Given the description of an element on the screen output the (x, y) to click on. 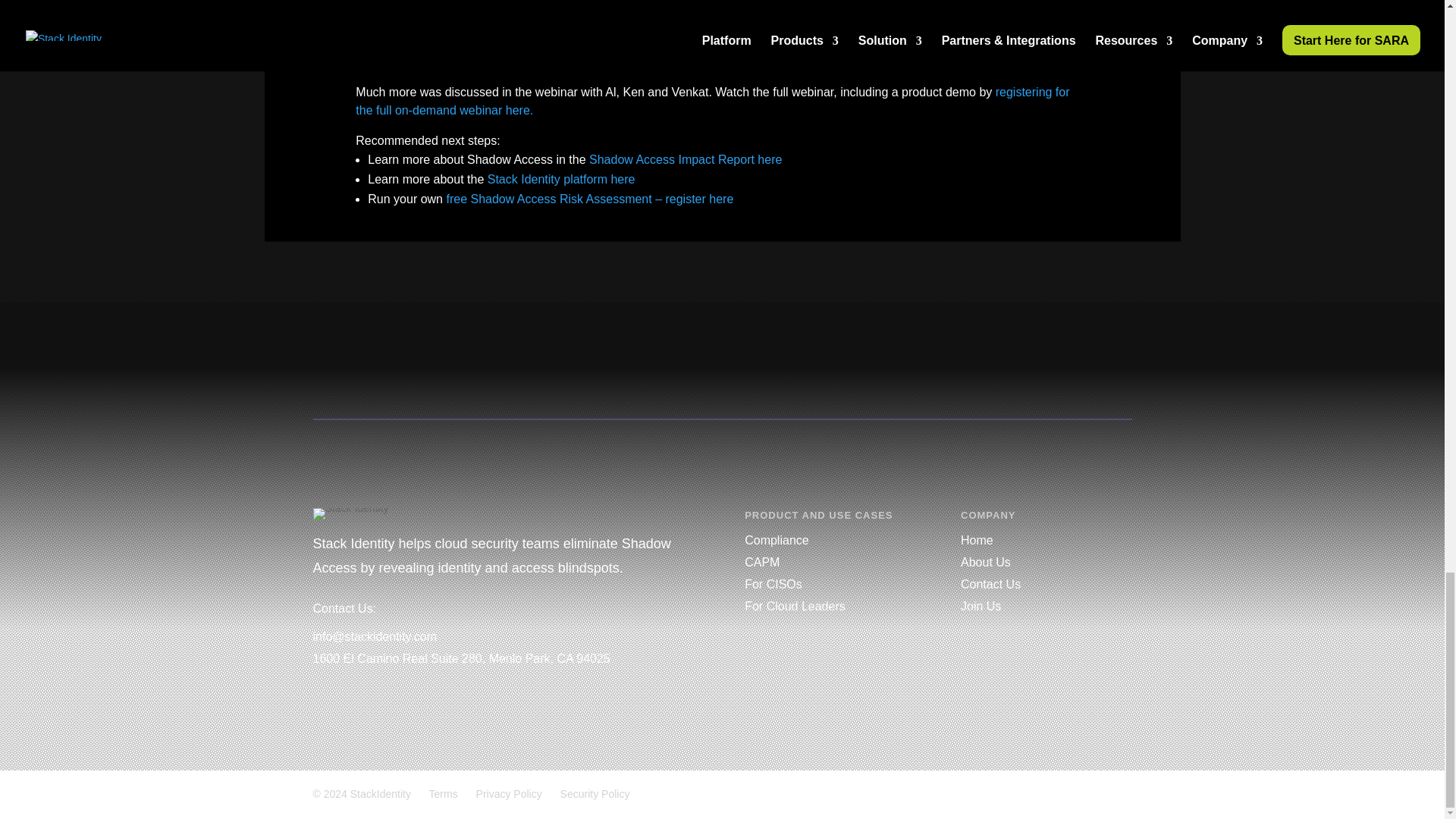
Shadow Access Impact Report here (685, 159)
Compliance (776, 540)
Home (976, 540)
About Us (985, 562)
For Cloud Leaders (794, 605)
Stack Identity platform here (560, 178)
Stack Identity (350, 513)
CAPM (761, 562)
For CISOs (773, 584)
registering for the full on-demand webinar here. (711, 101)
